Given the description of an element on the screen output the (x, y) to click on. 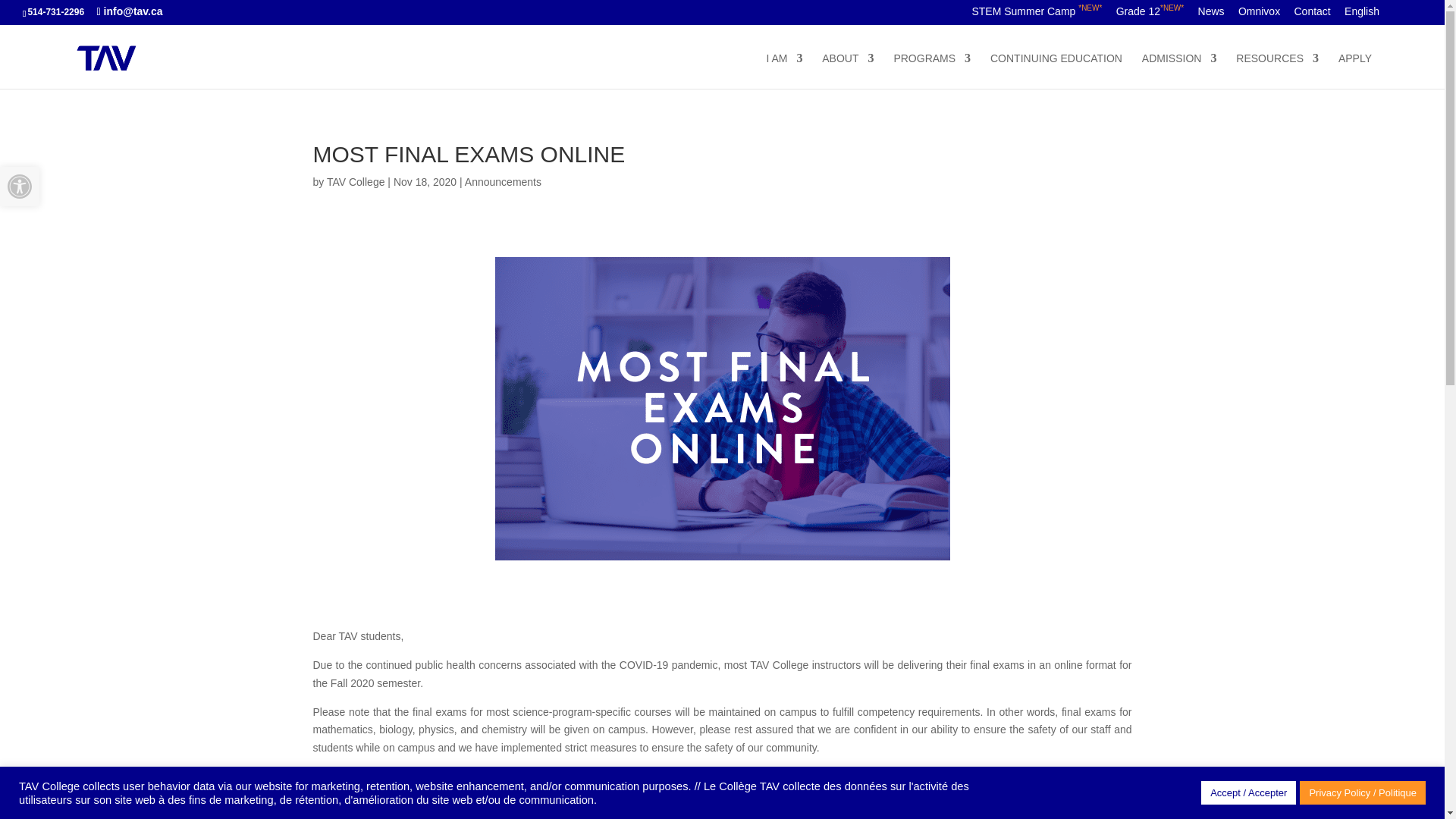
Accessibility Tools (19, 186)
English (1360, 15)
Posts by TAV College (355, 182)
I AM (783, 70)
ABOUT (847, 70)
Omnivox (1259, 15)
English (1360, 15)
News (1211, 15)
Contact (1312, 15)
Accessibility Tools (19, 186)
